Given the description of an element on the screen output the (x, y) to click on. 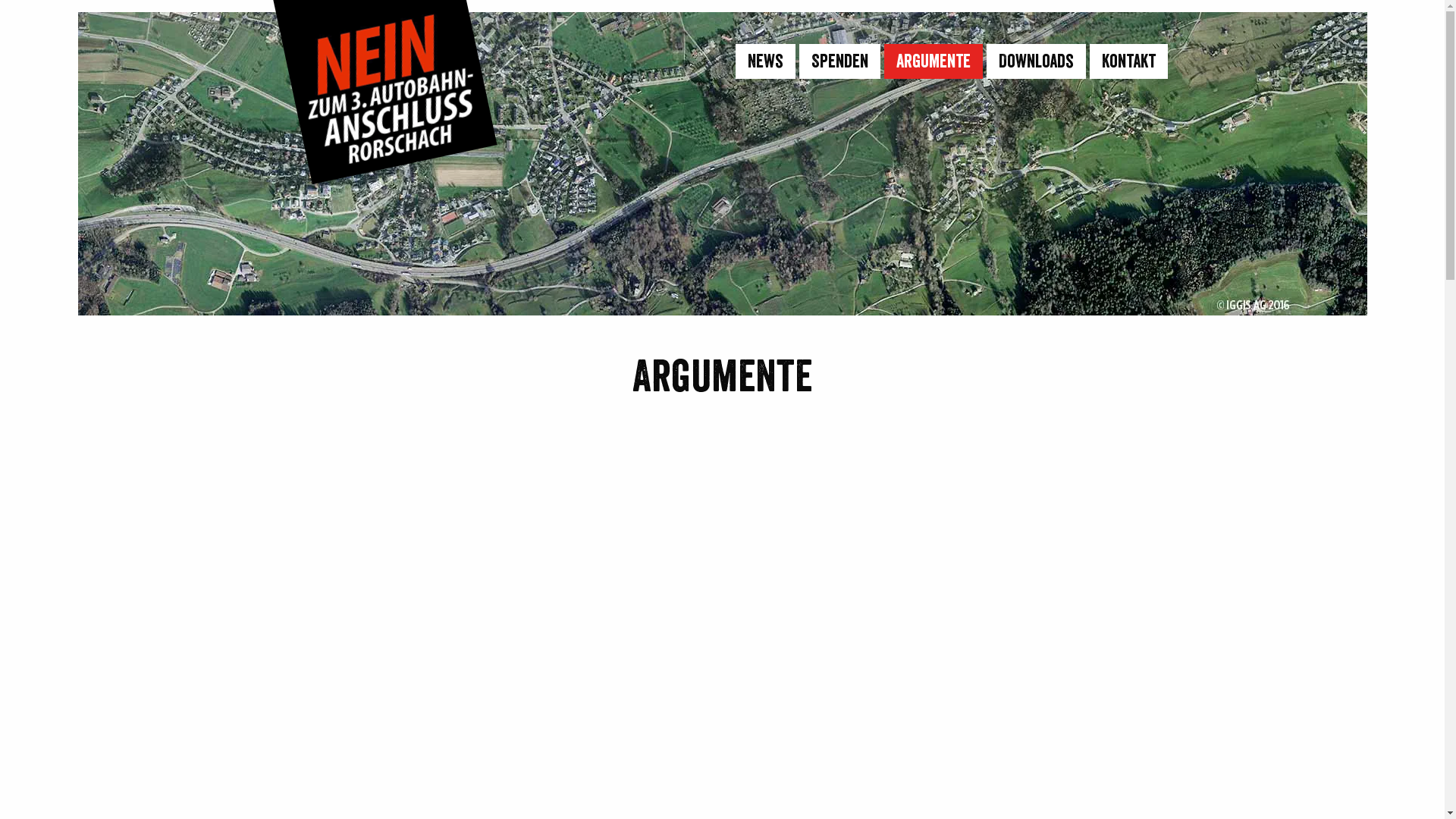
News Element type: text (765, 60)
Spenden Element type: text (839, 60)
Argumente Element type: text (933, 60)
Lukas Locher, 27 Jahre, Goldach Element type: hover (1025, 608)
Silvio Fontanive, 71 Jahre, Goldach Element type: hover (419, 608)
Downloads Element type: text (1035, 60)
Kontakt Element type: text (1127, 60)
